Given the description of an element on the screen output the (x, y) to click on. 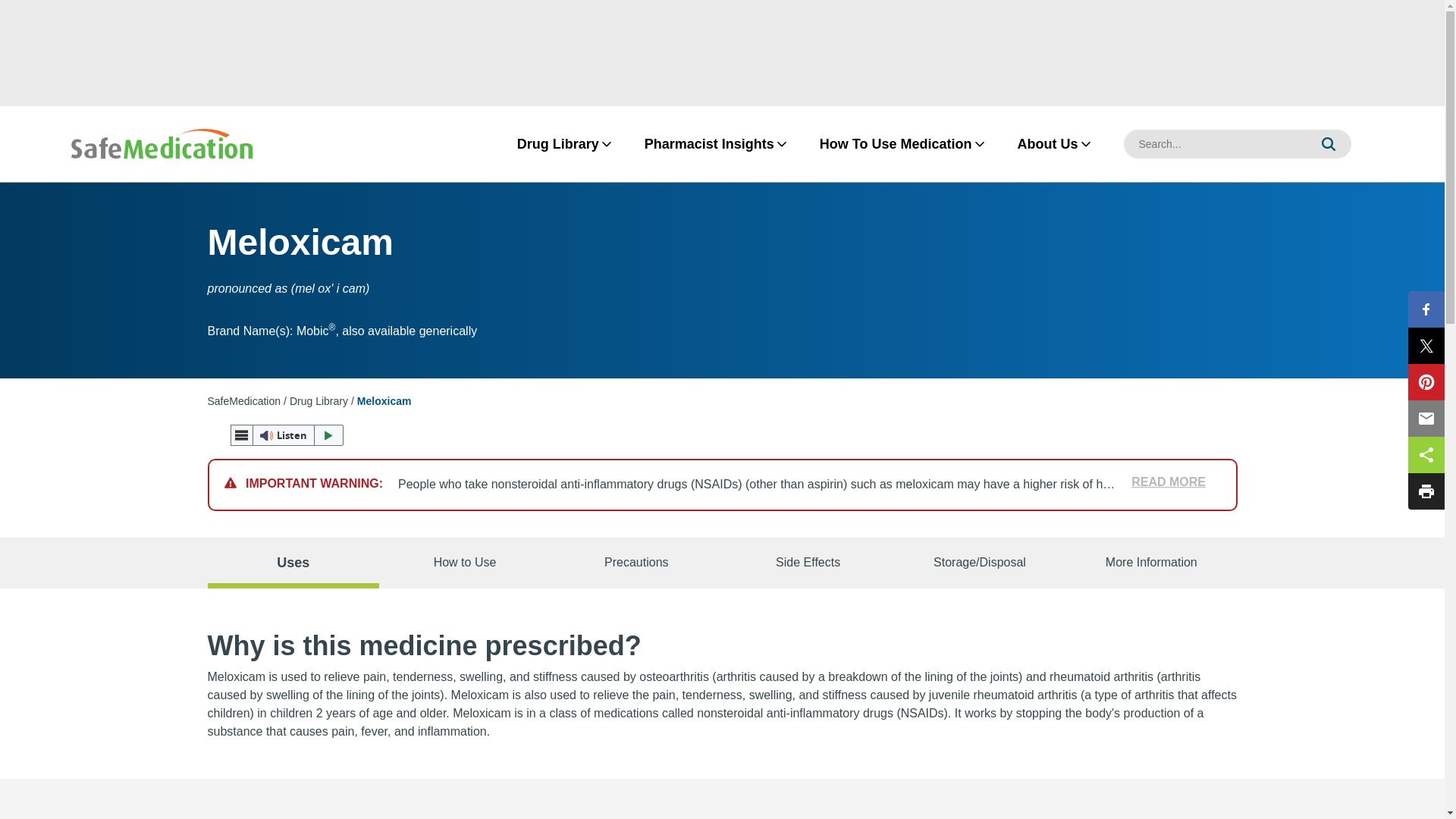
Pharmacist Insights (708, 143)
How To Use Medication (895, 143)
READ MORE (1161, 481)
Uses (293, 562)
Listen to this page using ReadSpeaker webReader (286, 435)
About Us (1047, 143)
Insert a query. Press enter to send (1215, 143)
webReader menu (241, 435)
Listen (286, 435)
Precautions (636, 562)
Drug Library (318, 400)
Side Effects (807, 562)
Drug Library (558, 143)
IMPORTANT WARNING: (310, 484)
3rd party ad content (721, 52)
